Given the description of an element on the screen output the (x, y) to click on. 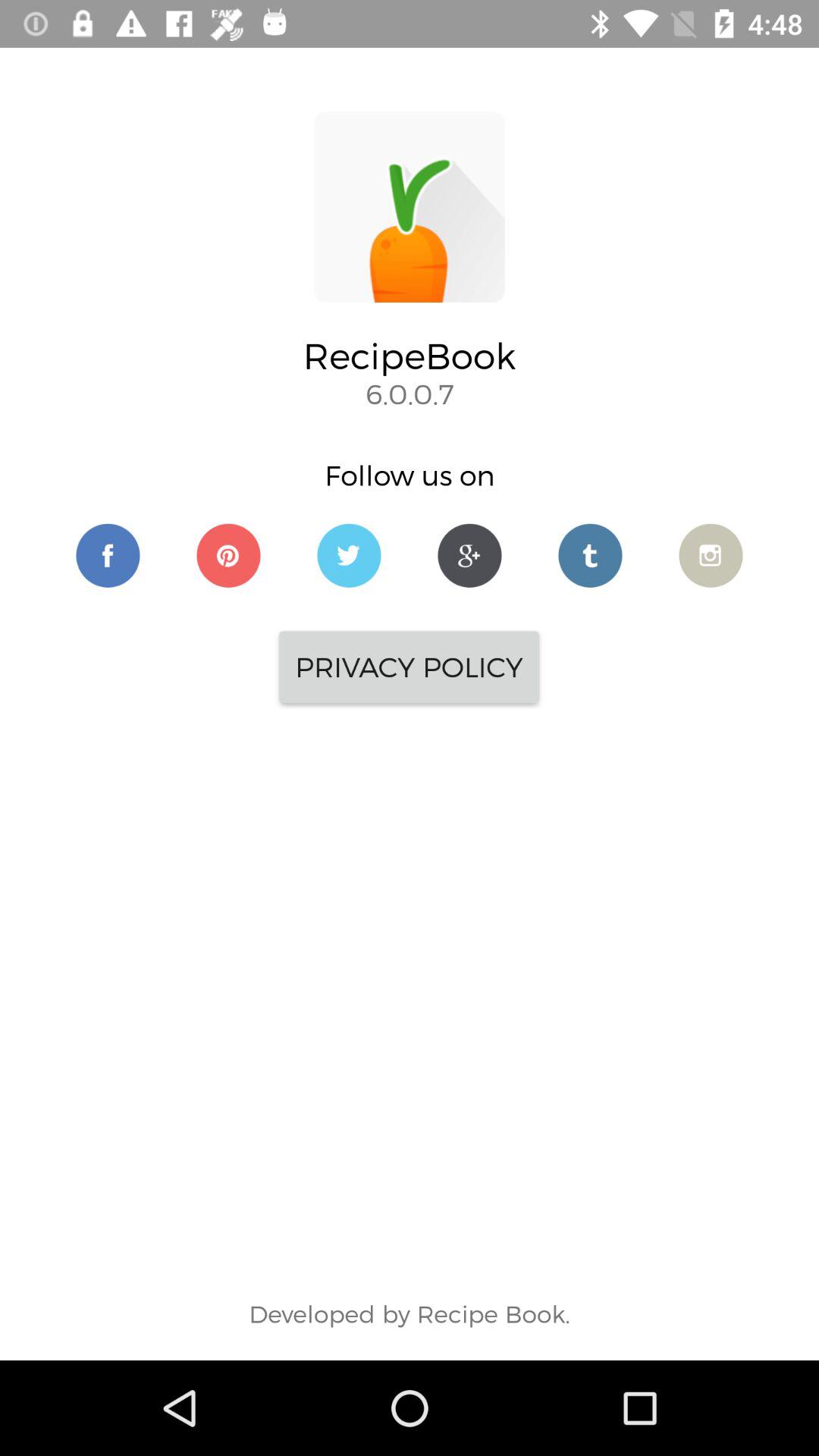
google (469, 555)
